Given the description of an element on the screen output the (x, y) to click on. 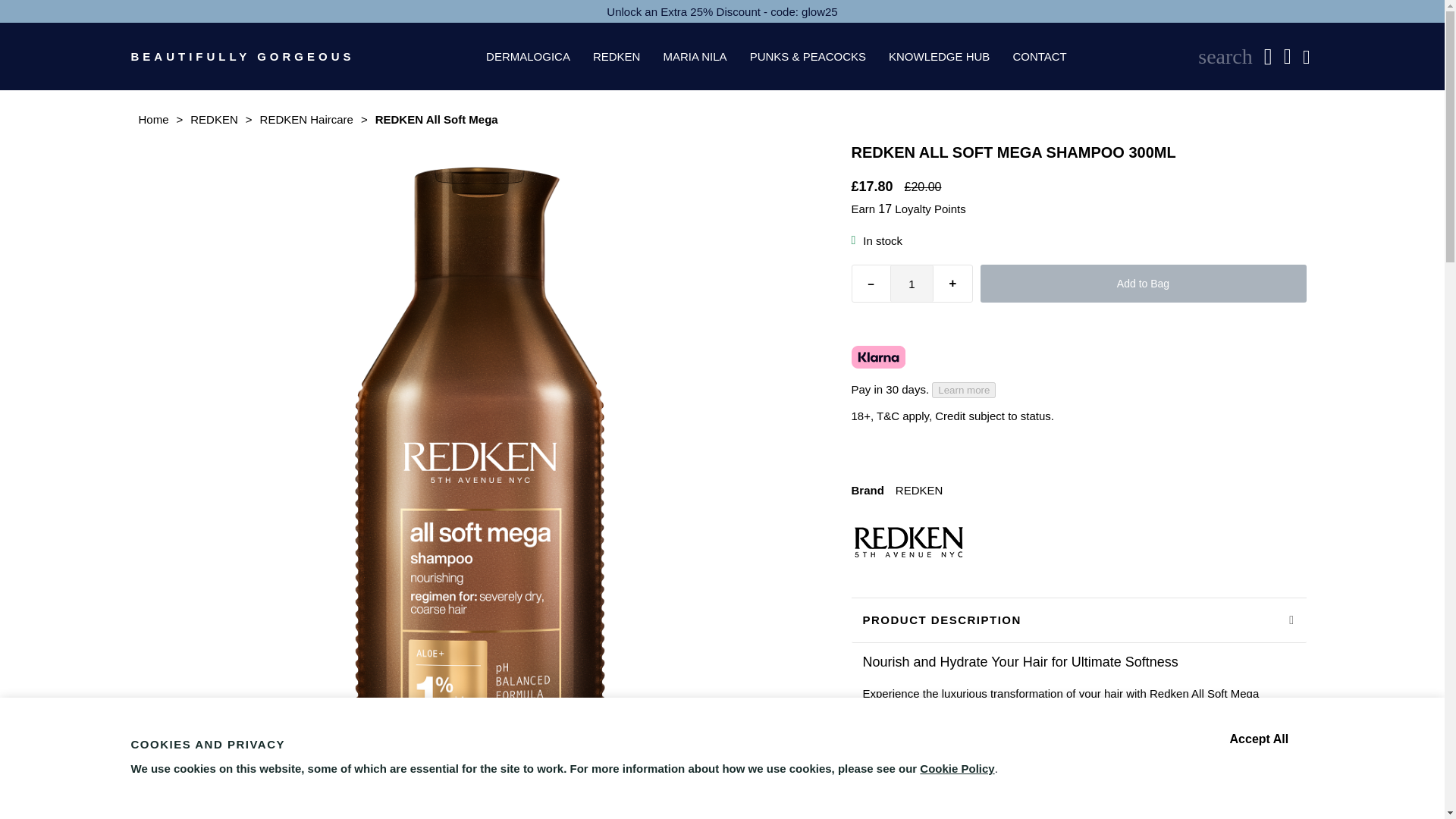
DERMALOGICA (527, 56)
KNOWLEDGE HUB (939, 56)
1 (911, 283)
MARIA NILA (694, 56)
REDKEN (616, 56)
CONTACT (1039, 56)
